Given the description of an element on the screen output the (x, y) to click on. 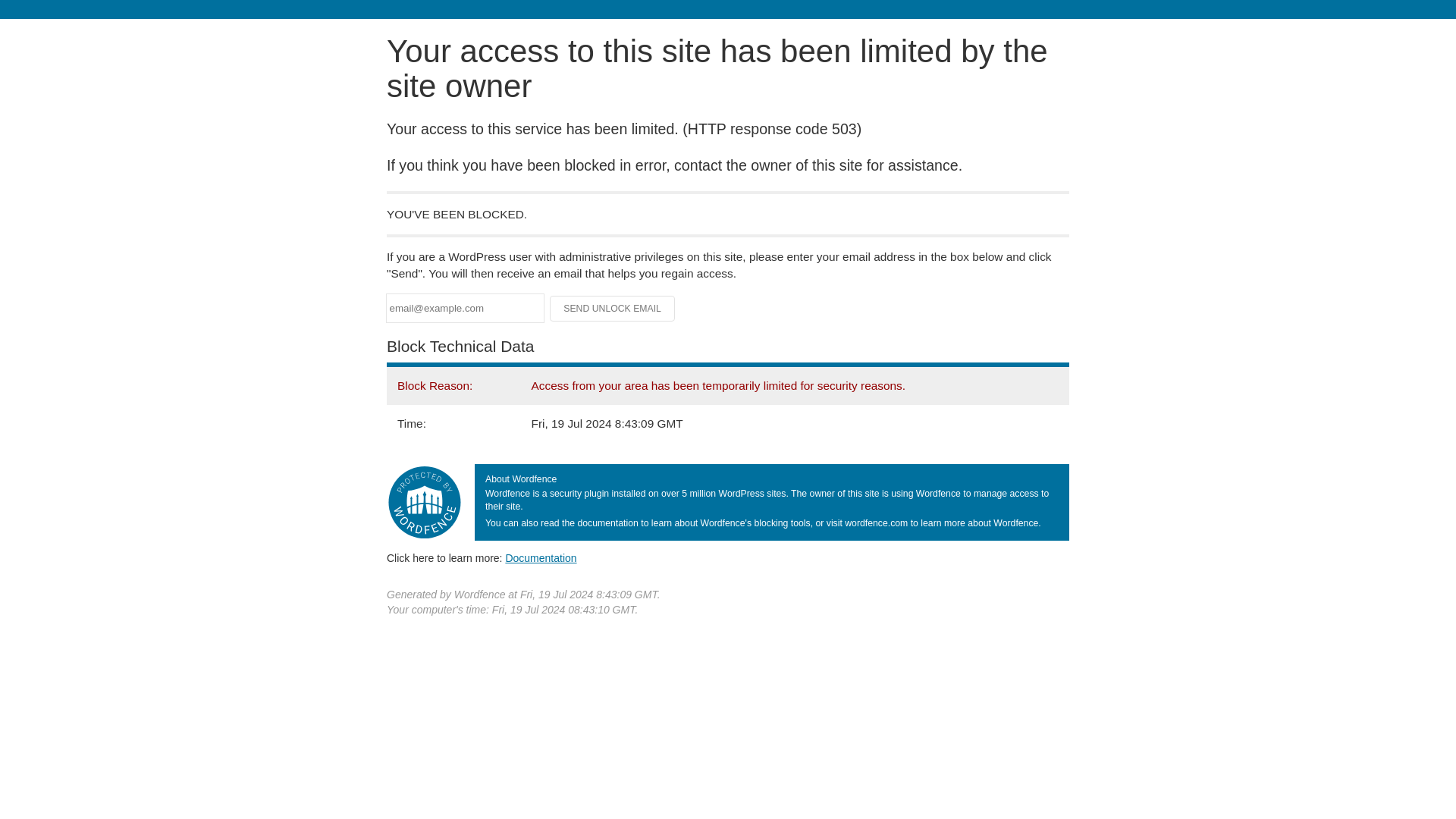
Send Unlock Email (612, 308)
Documentation (540, 558)
Send Unlock Email (612, 308)
